Given the description of an element on the screen output the (x, y) to click on. 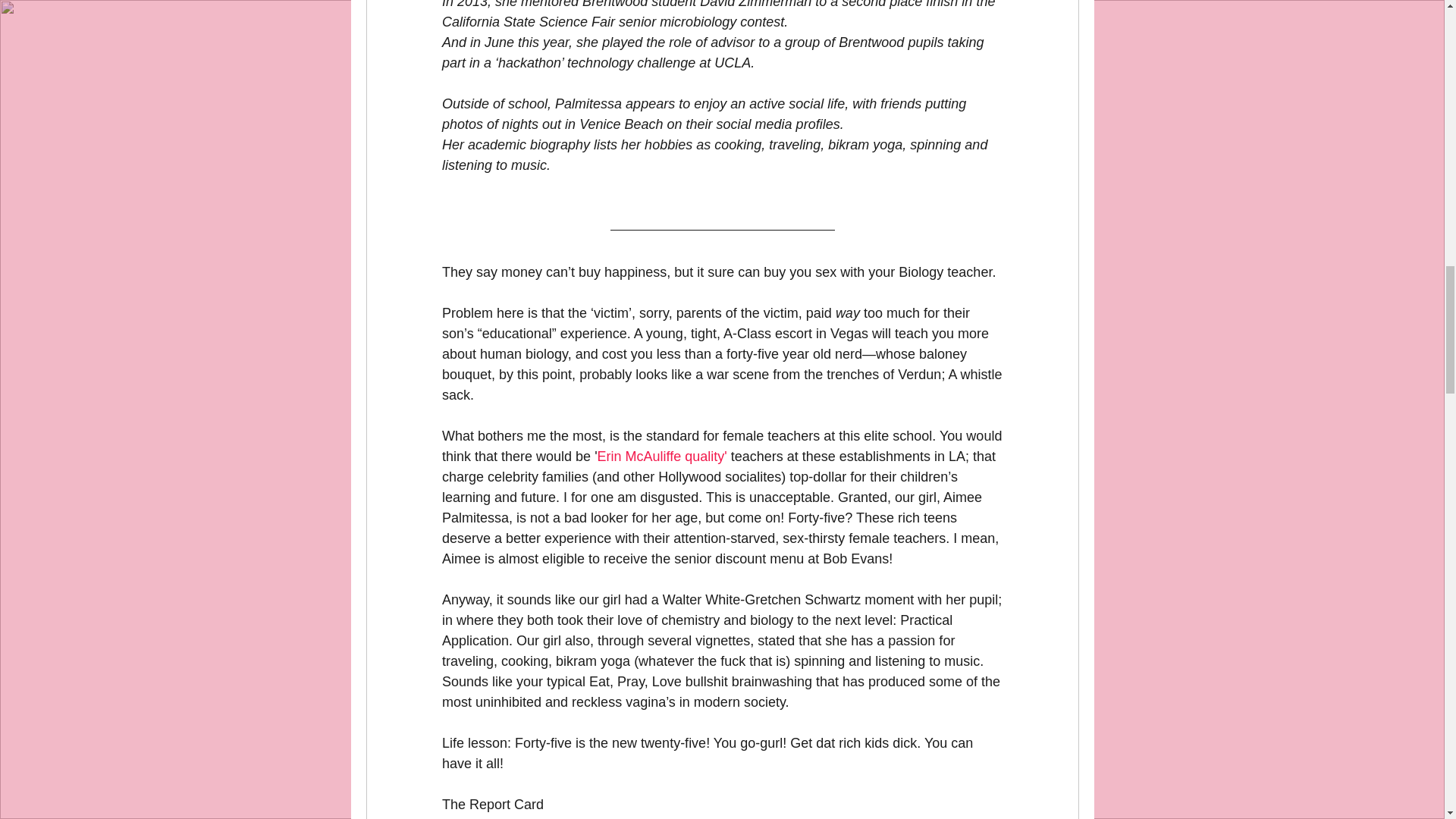
Erin McAuliffe quality' (661, 456)
